Given the description of an element on the screen output the (x, y) to click on. 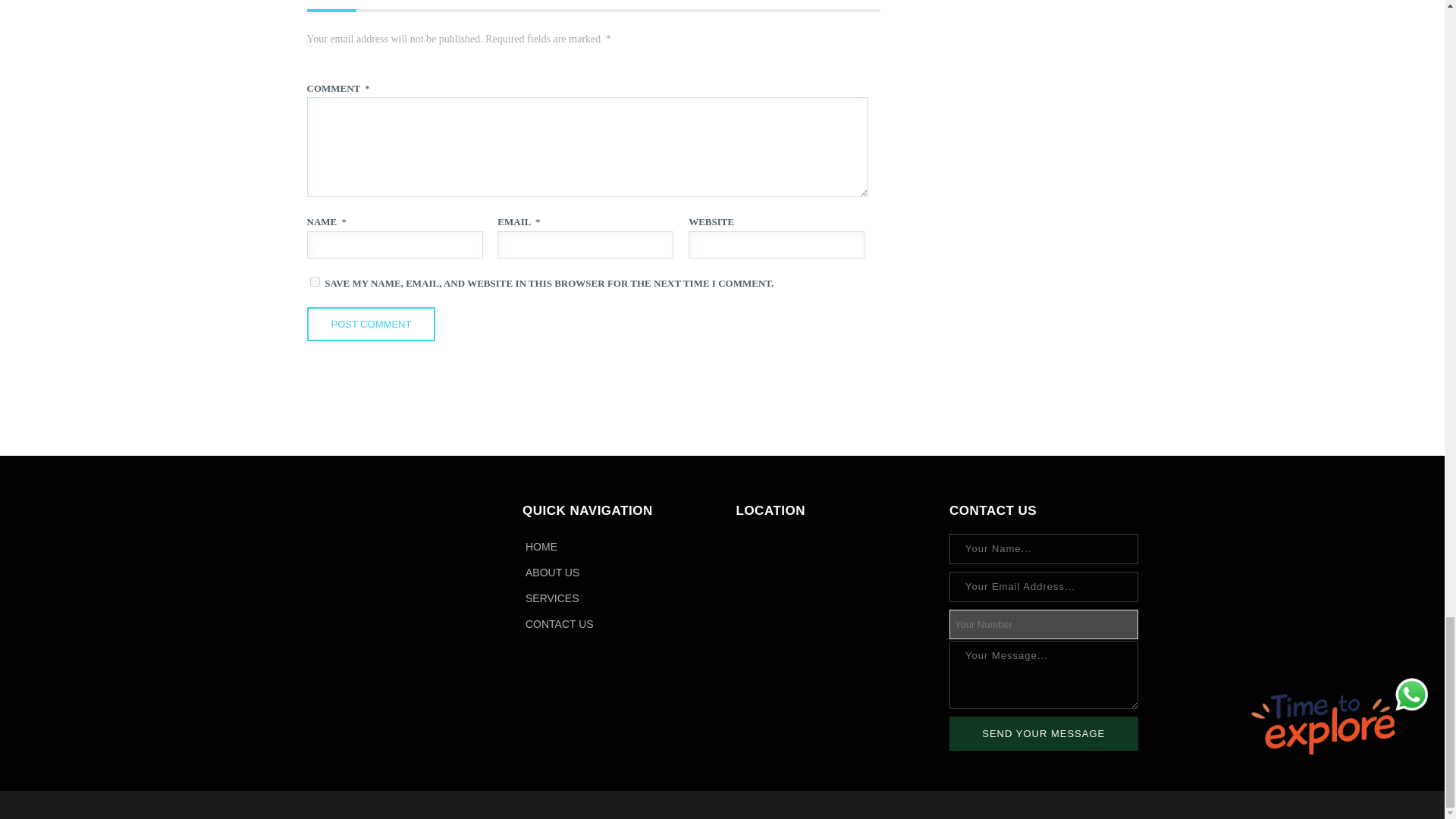
Post Comment (370, 324)
SEND YOUR MESSAGE (1043, 733)
yes (313, 281)
